Given the description of an element on the screen output the (x, y) to click on. 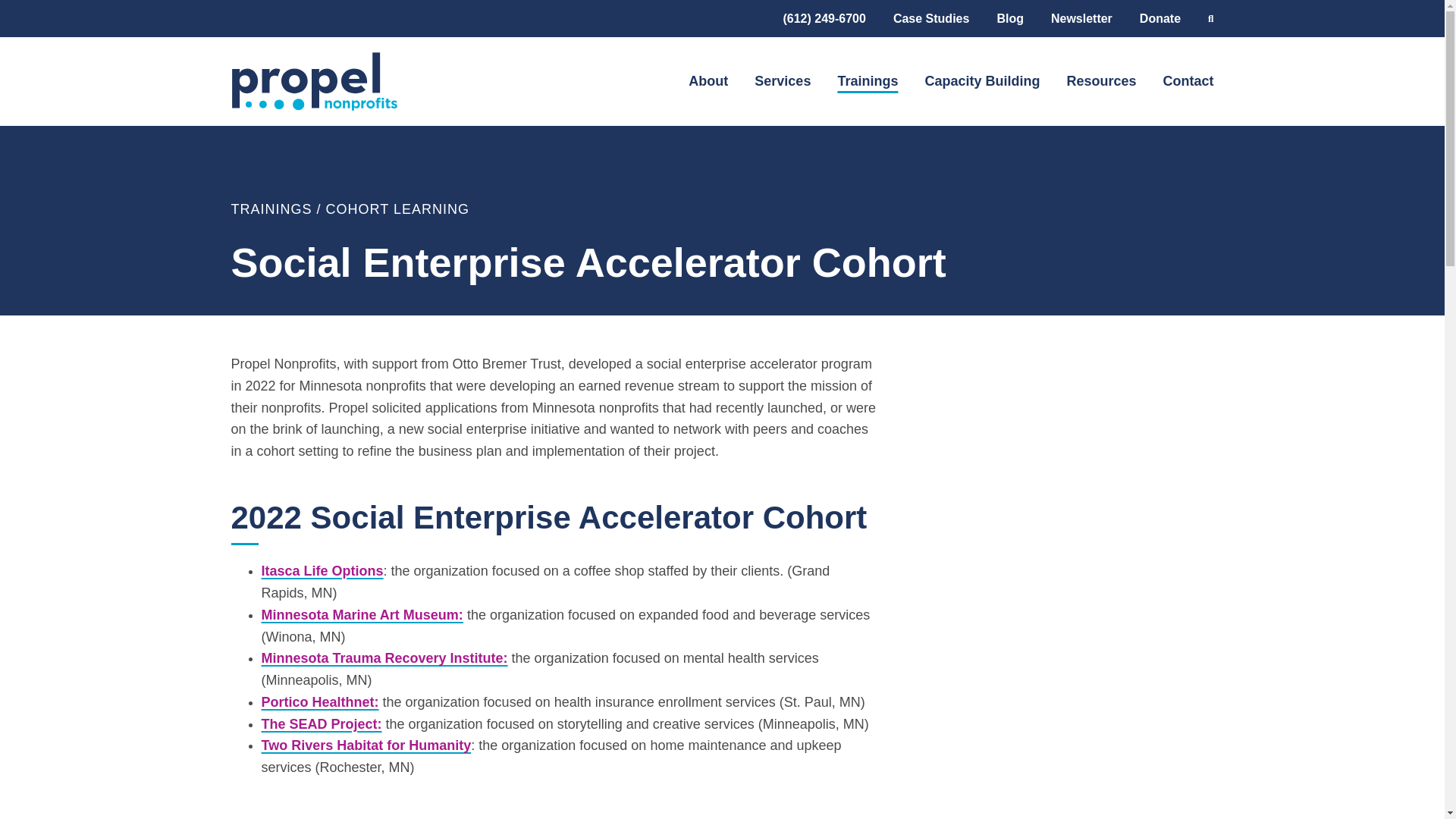
Go to Cohort Learning. (397, 209)
Newsletter (1081, 18)
Donate (1160, 18)
Go to Trainings. (270, 209)
About (708, 81)
Services (782, 81)
Trainings (867, 81)
Resources (1100, 81)
Blog (1009, 18)
Case Studies (931, 18)
Capacity Building (981, 81)
Contact (1188, 81)
